Given the description of an element on the screen output the (x, y) to click on. 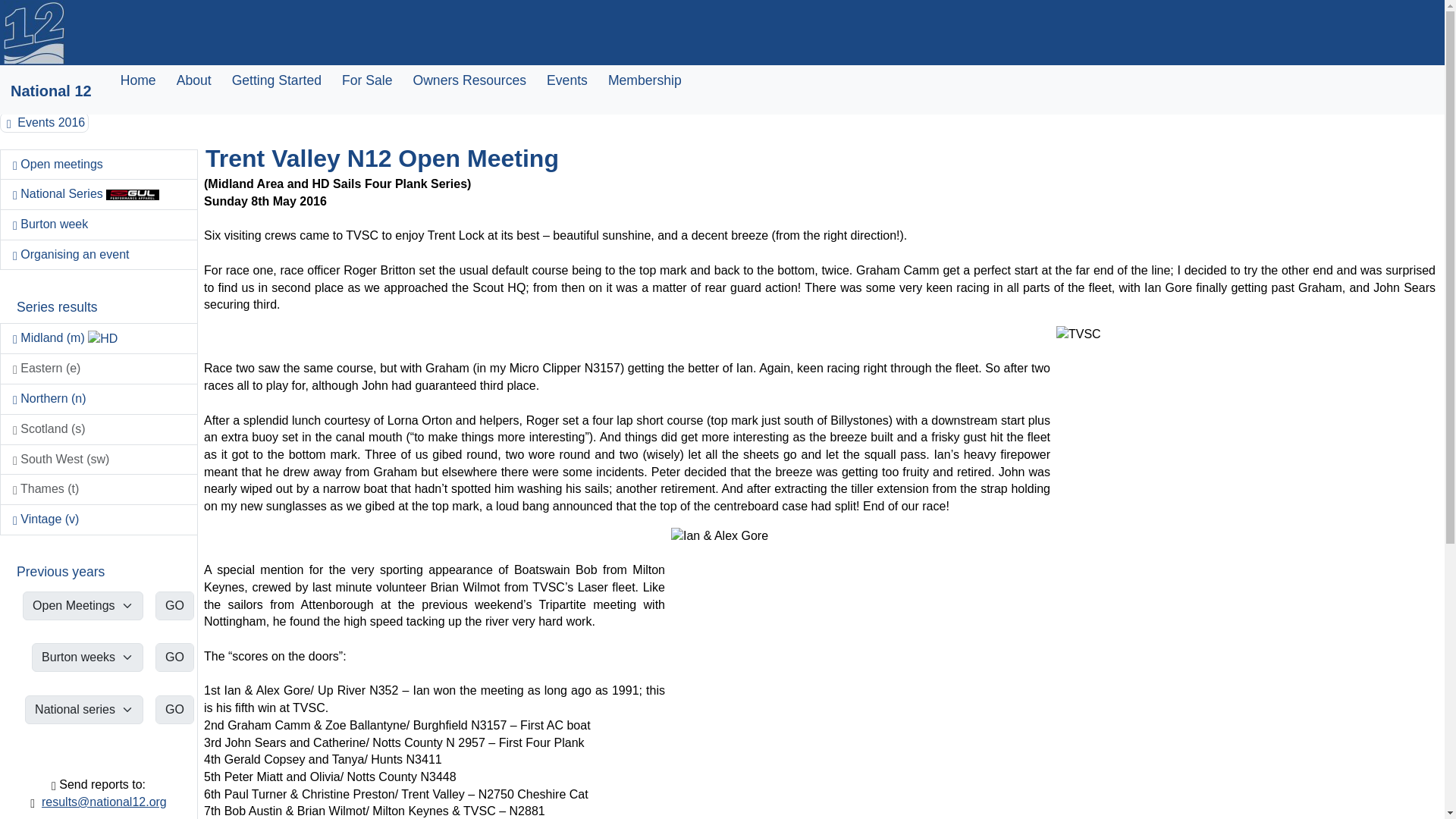
Gul (132, 194)
About (193, 80)
Open meetings (98, 164)
Getting Started (276, 80)
National 12 (50, 90)
National Series (98, 194)
Organising an event (98, 255)
N12 Home (34, 32)
Owners Resources (468, 80)
Membership (644, 80)
Home (137, 80)
GO (174, 656)
Events (567, 80)
GO (174, 604)
For Sale (367, 80)
